Given the description of an element on the screen output the (x, y) to click on. 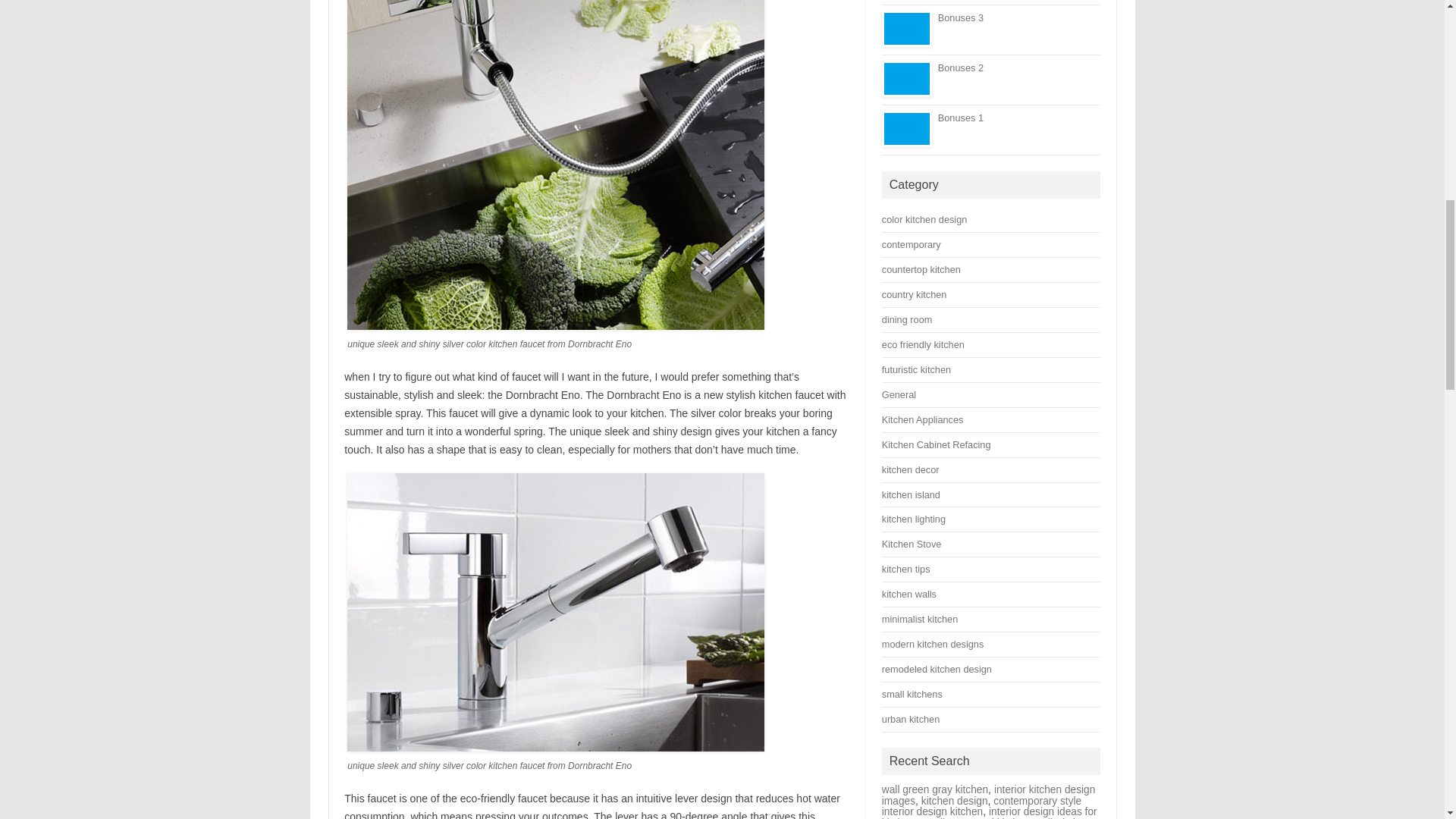
color kitchen design ideas (925, 219)
